Given the description of an element on the screen output the (x, y) to click on. 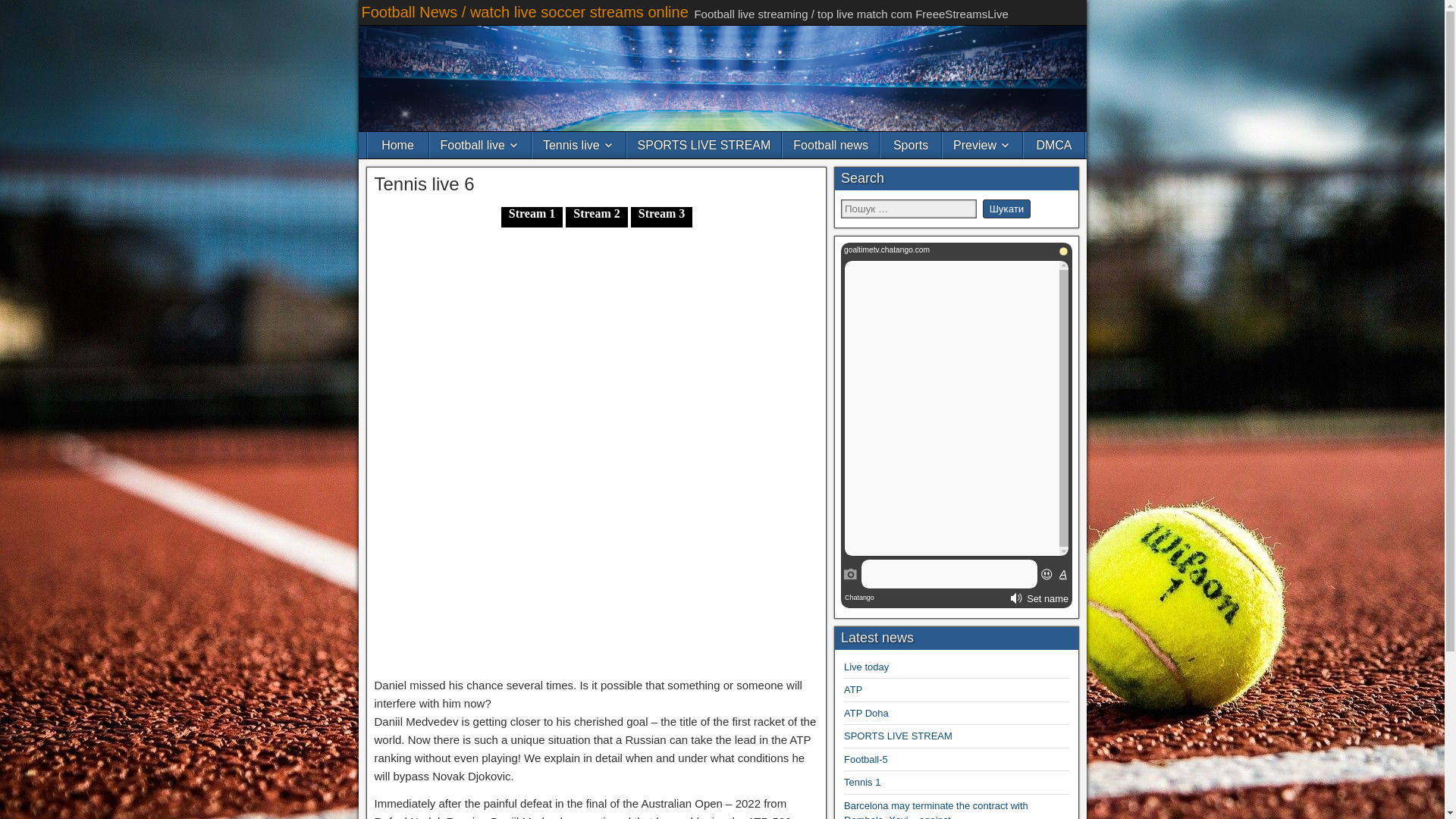
DMCA (1053, 144)
Football news (831, 144)
Tennis live 6 (424, 183)
Live today (866, 666)
SPORTS LIVE STREAM (898, 736)
Tennis live (579, 144)
Home (397, 144)
ATP Doha (866, 713)
Sports (910, 144)
Tennis 1 (862, 781)
